Given the description of an element on the screen output the (x, y) to click on. 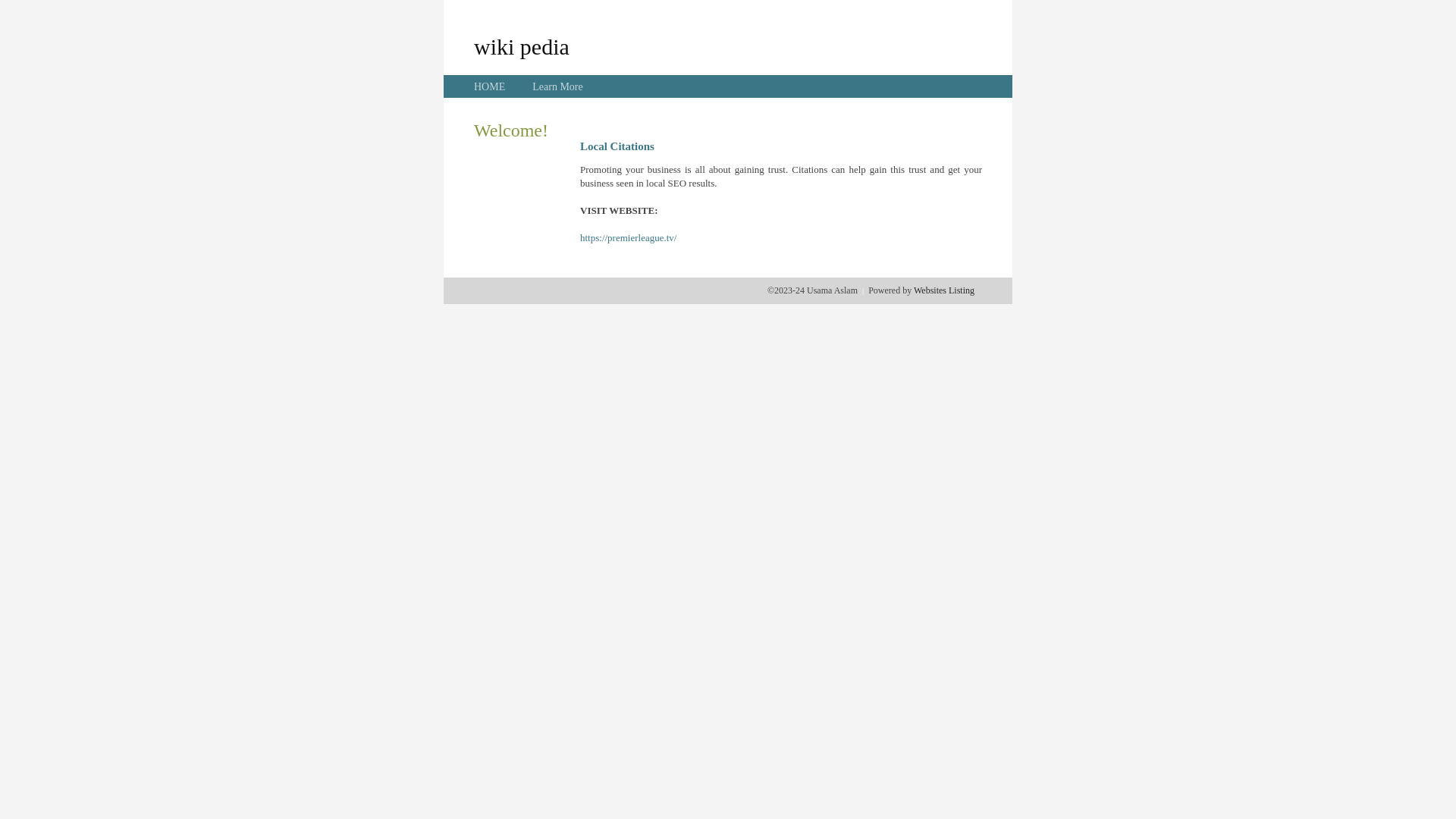
https://premierleague.tv/ Element type: text (628, 237)
Websites Listing Element type: text (943, 290)
HOME Element type: text (489, 86)
Learn More Element type: text (557, 86)
wiki pedia Element type: text (521, 46)
